Given the description of an element on the screen output the (x, y) to click on. 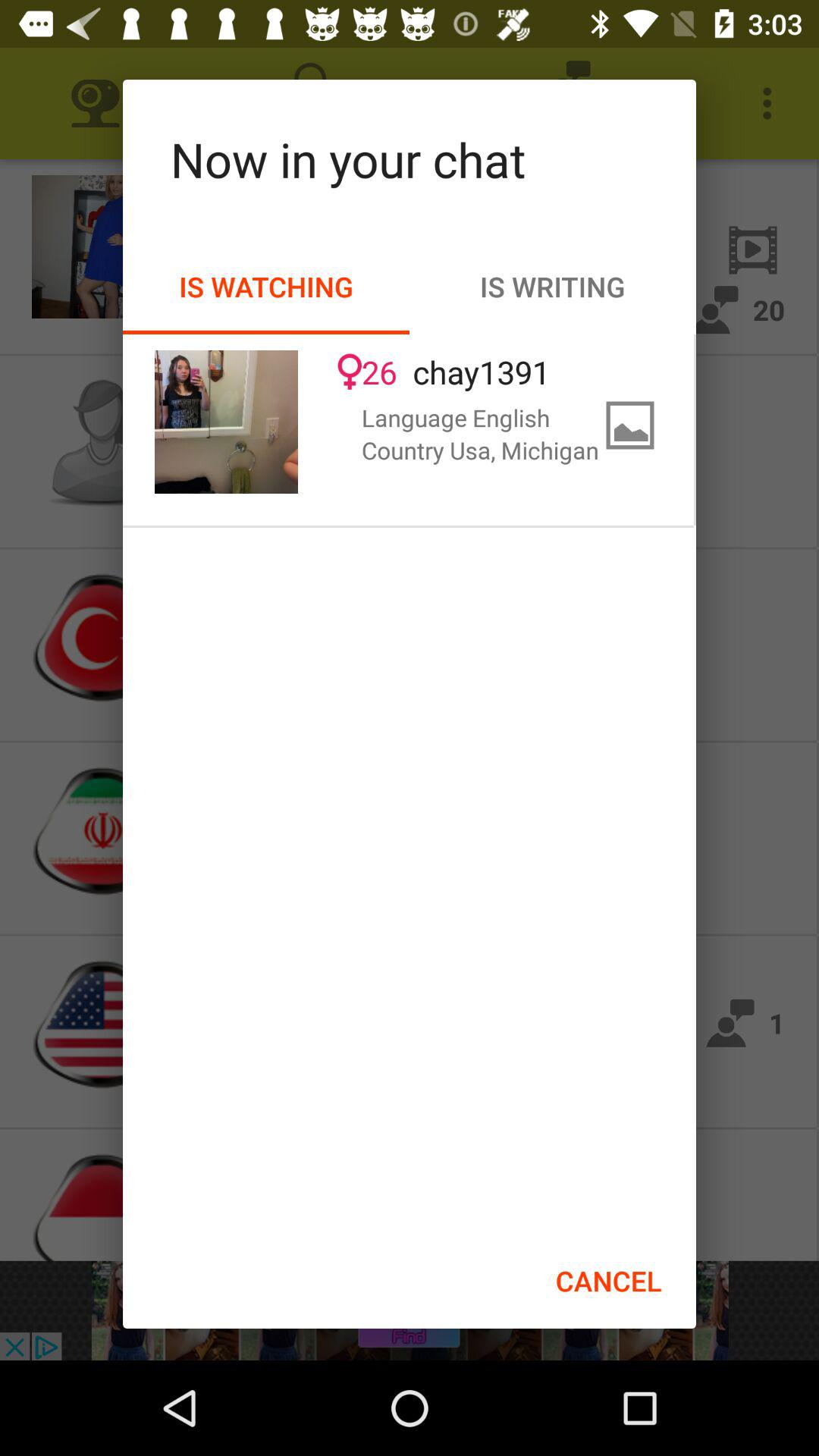
flip until cancel icon (608, 1280)
